Given the description of an element on the screen output the (x, y) to click on. 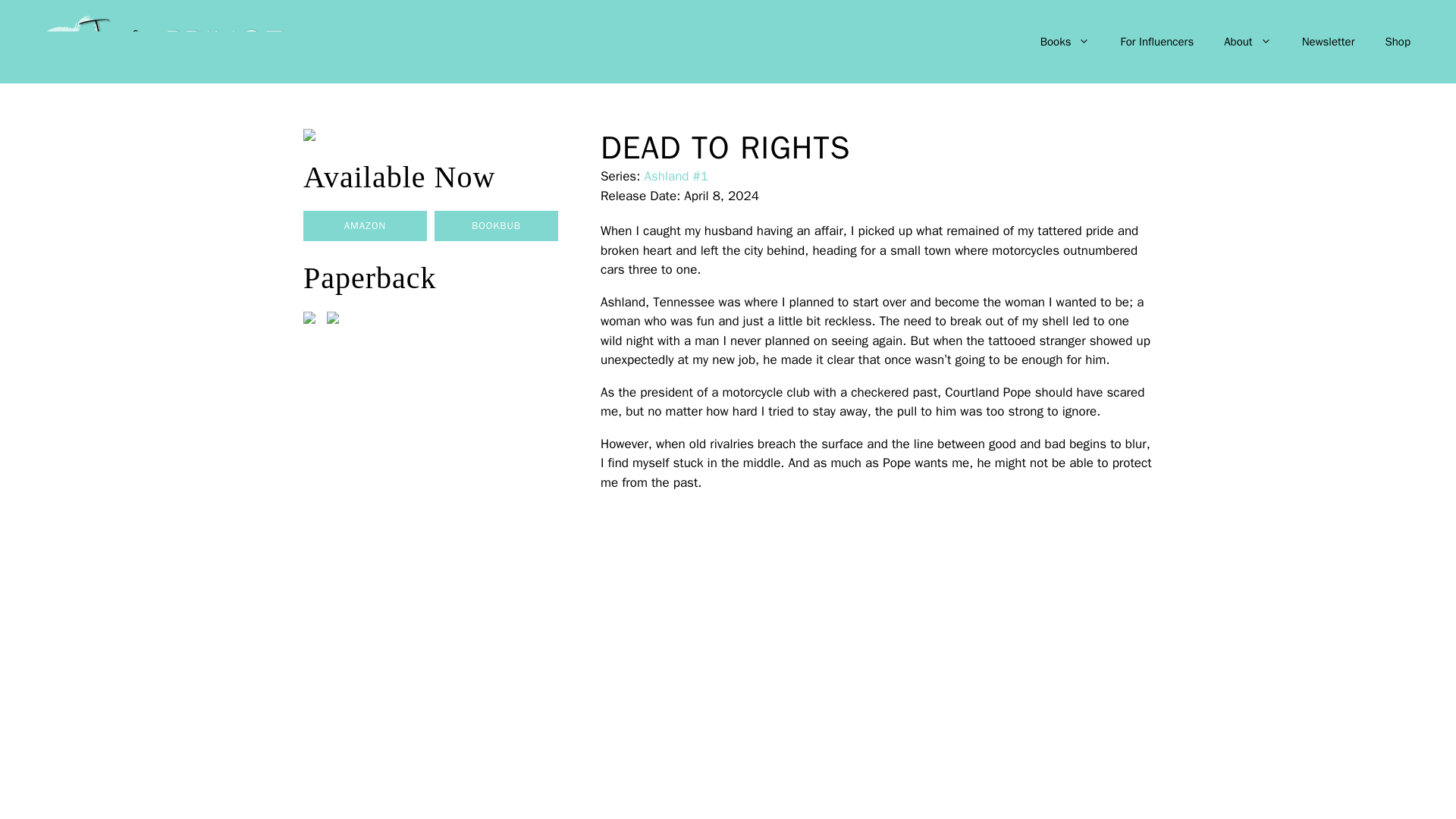
Newsletter (1328, 41)
AMAZON (364, 225)
About (1246, 41)
BOOKBUB (495, 225)
For Influencers (1156, 41)
Shop (1397, 41)
Books (1065, 41)
